Given the description of an element on the screen output the (x, y) to click on. 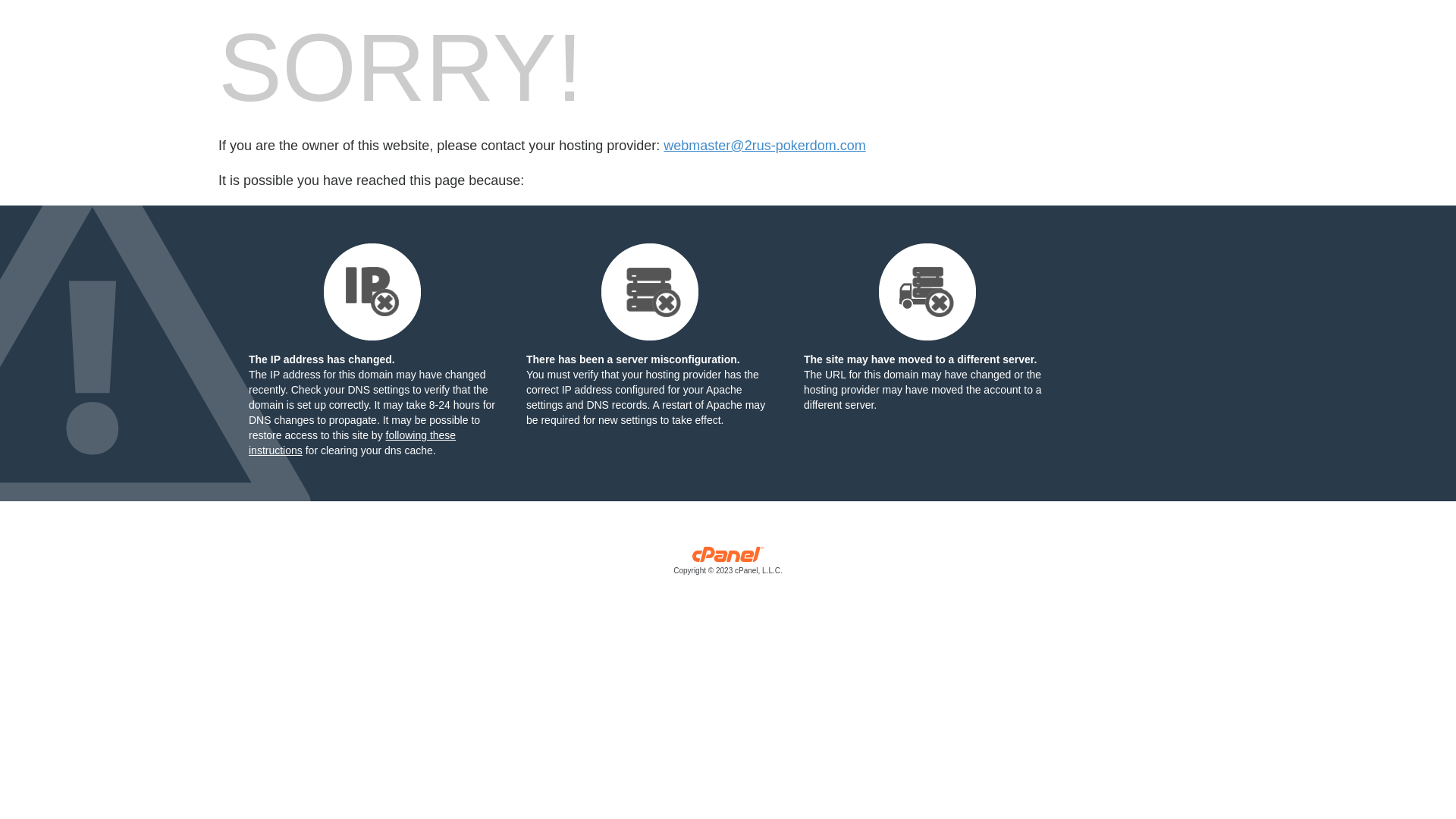
following these instructions Element type: text (351, 442)
webmaster@2rus-pokerdom.com Element type: text (764, 145)
